Given the description of an element on the screen output the (x, y) to click on. 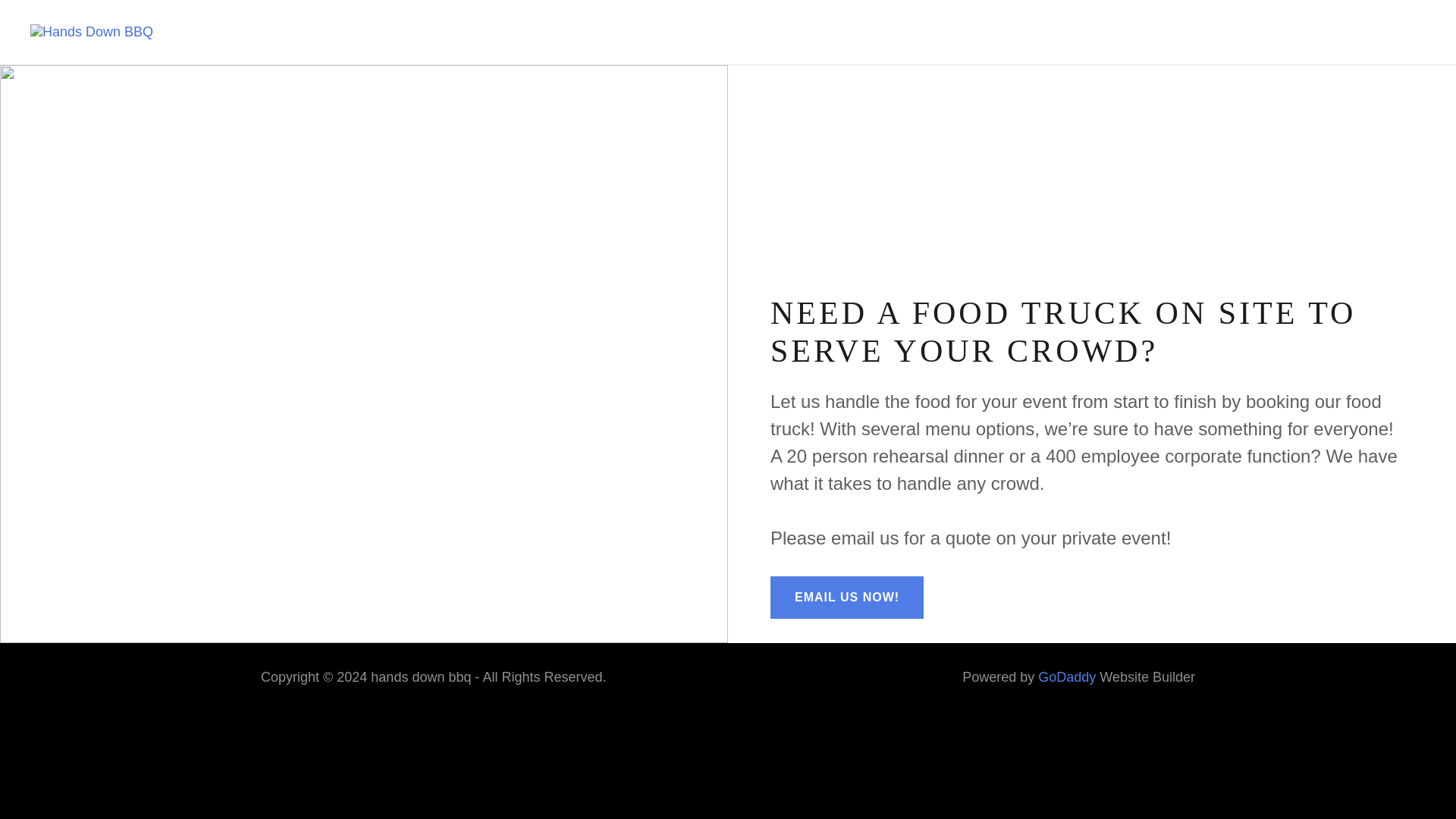
GoDaddy (1067, 676)
EMAIL US NOW! (846, 597)
Hands Down BBQ (91, 31)
